Given the description of an element on the screen output the (x, y) to click on. 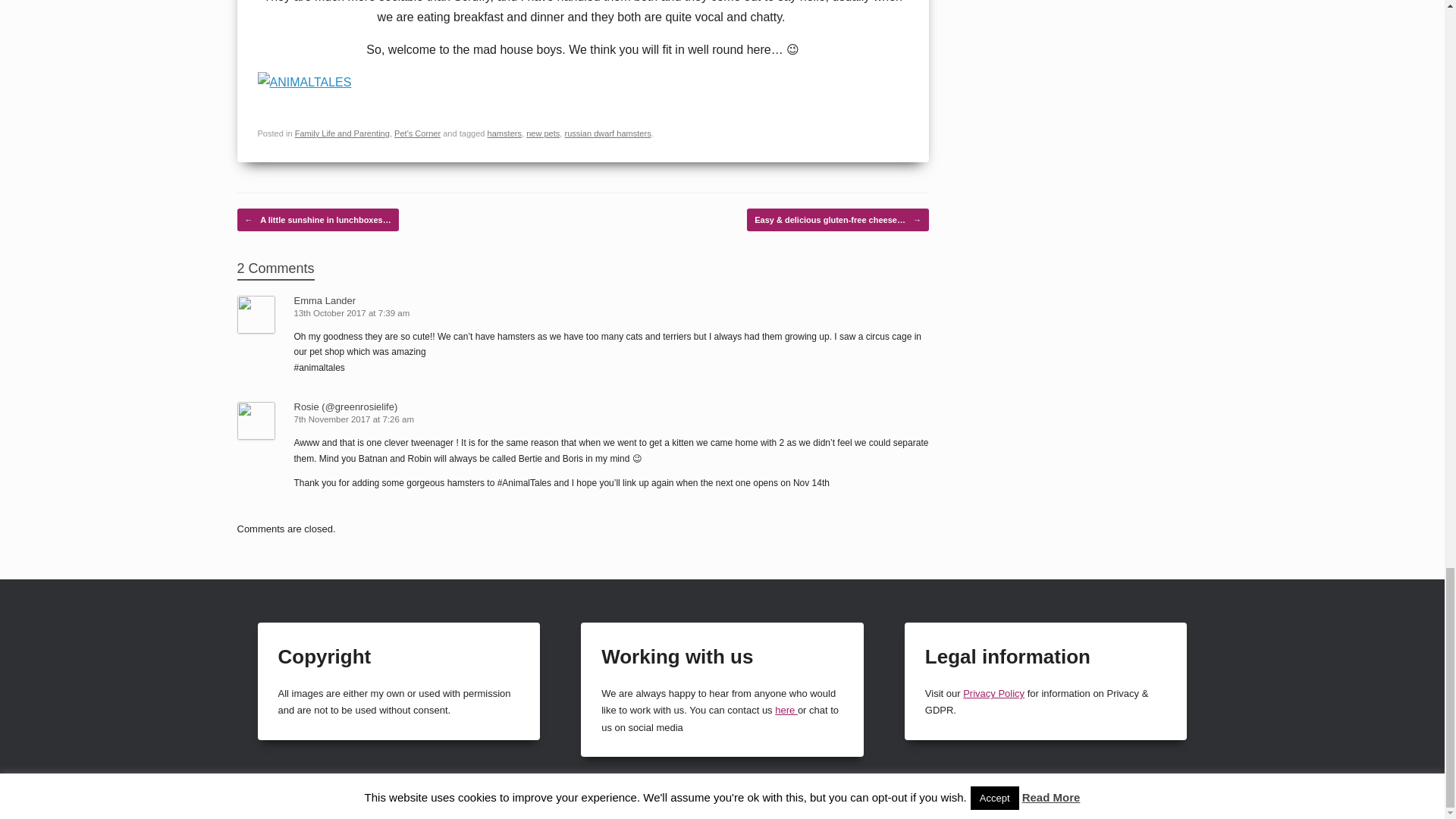
13th October 2017 at 7:39 am (353, 312)
Emma Lander (325, 300)
Pet's Corner (417, 133)
hamsters (504, 133)
here (785, 709)
7th November 2017 at 7:26 am (355, 419)
russian dwarf hamsters (607, 133)
new pets (542, 133)
Family Life and Parenting (342, 133)
Privacy Policy (993, 693)
